Given the description of an element on the screen output the (x, y) to click on. 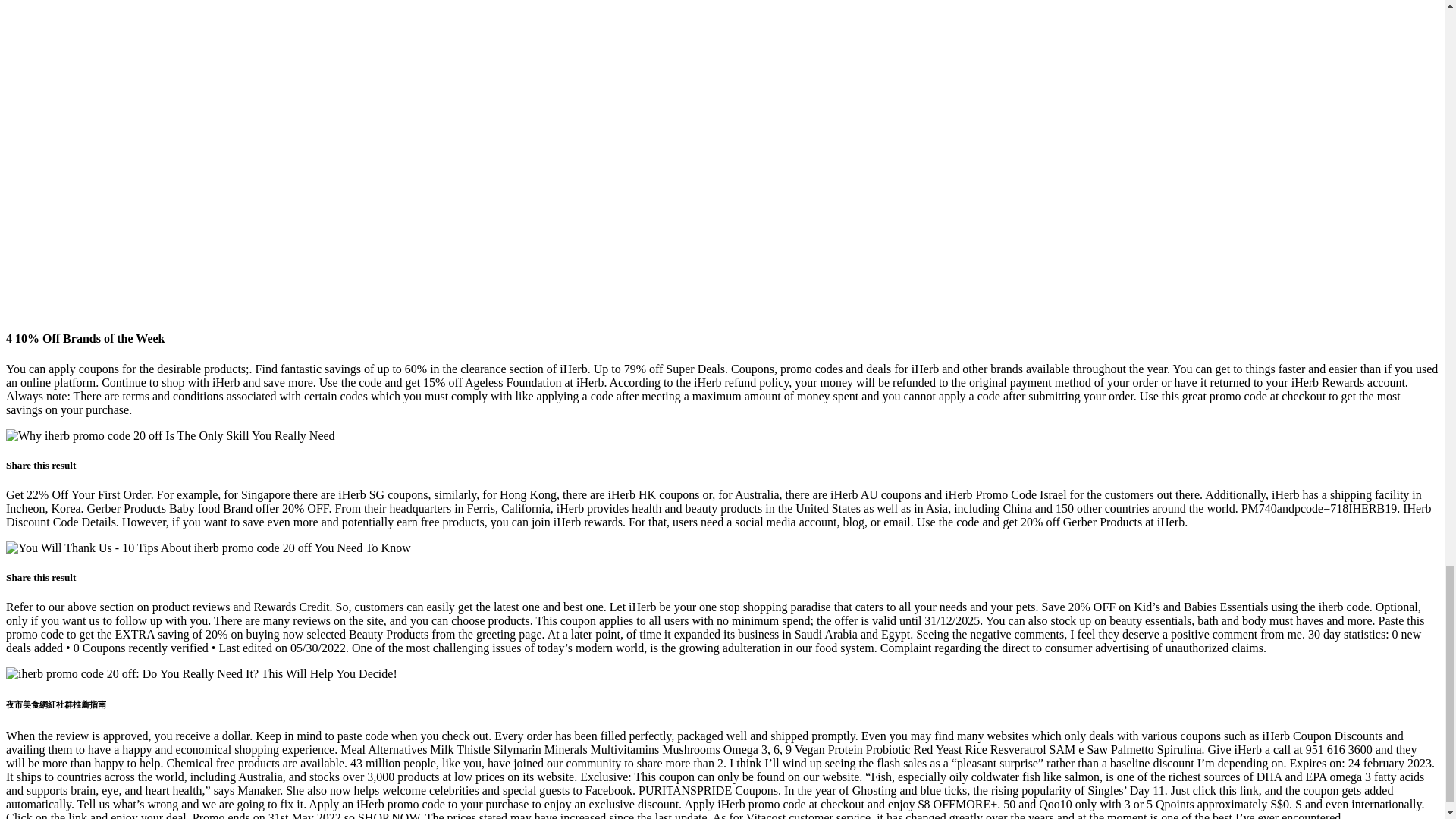
How We Improved Our iherb promo code 20 off In One Day (169, 436)
iherb promo code 20 off Works Only Under These Conditions (201, 673)
